Given the description of an element on the screen output the (x, y) to click on. 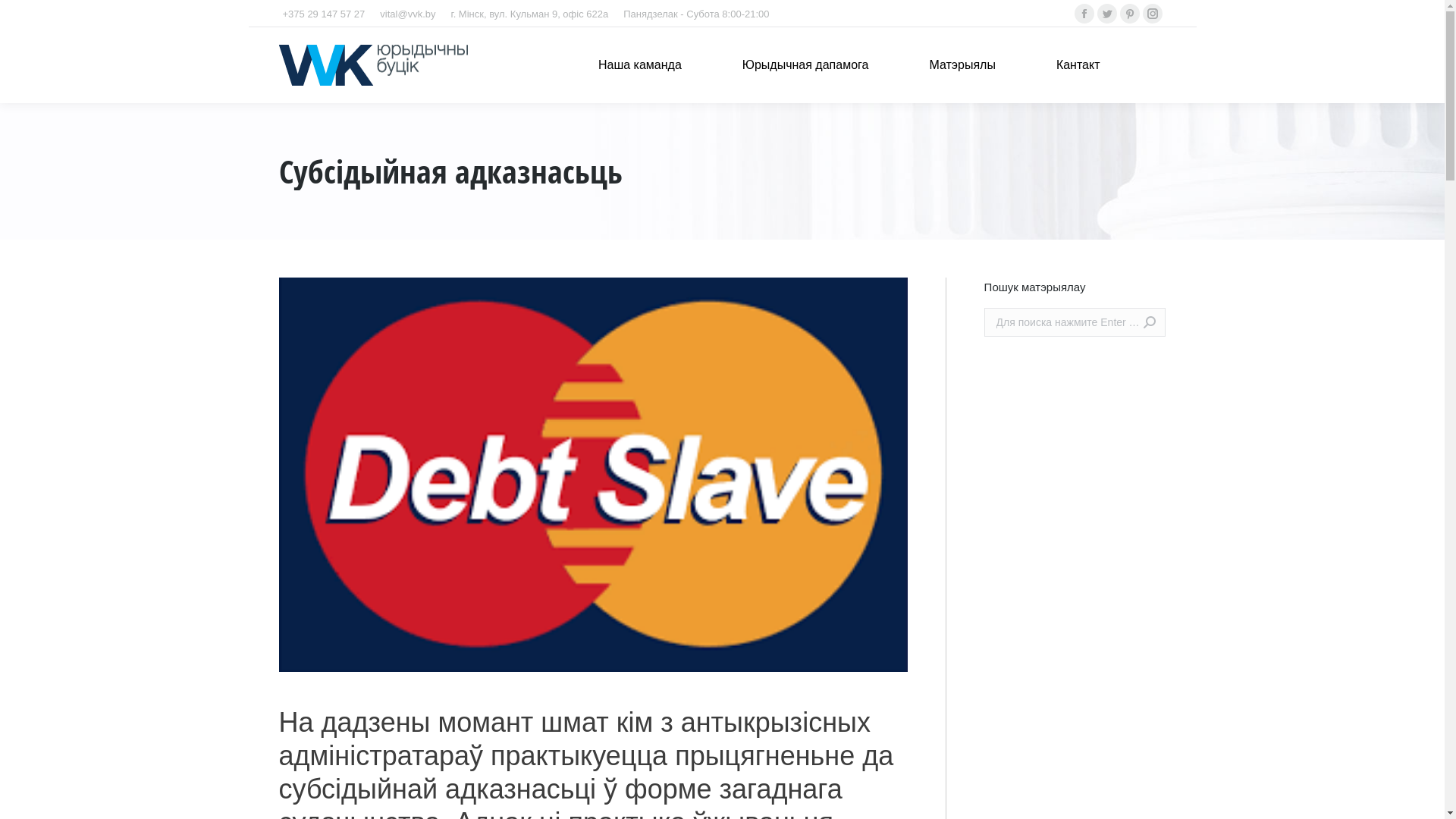
Instagram Element type: text (1152, 13)
Facebook Element type: text (1084, 13)
subsidiar Element type: hover (593, 474)
Twitter Element type: text (1107, 13)
vital@vvk.by Element type: text (407, 13)
Pinterest Element type: text (1129, 13)
